Given the description of an element on the screen output the (x, y) to click on. 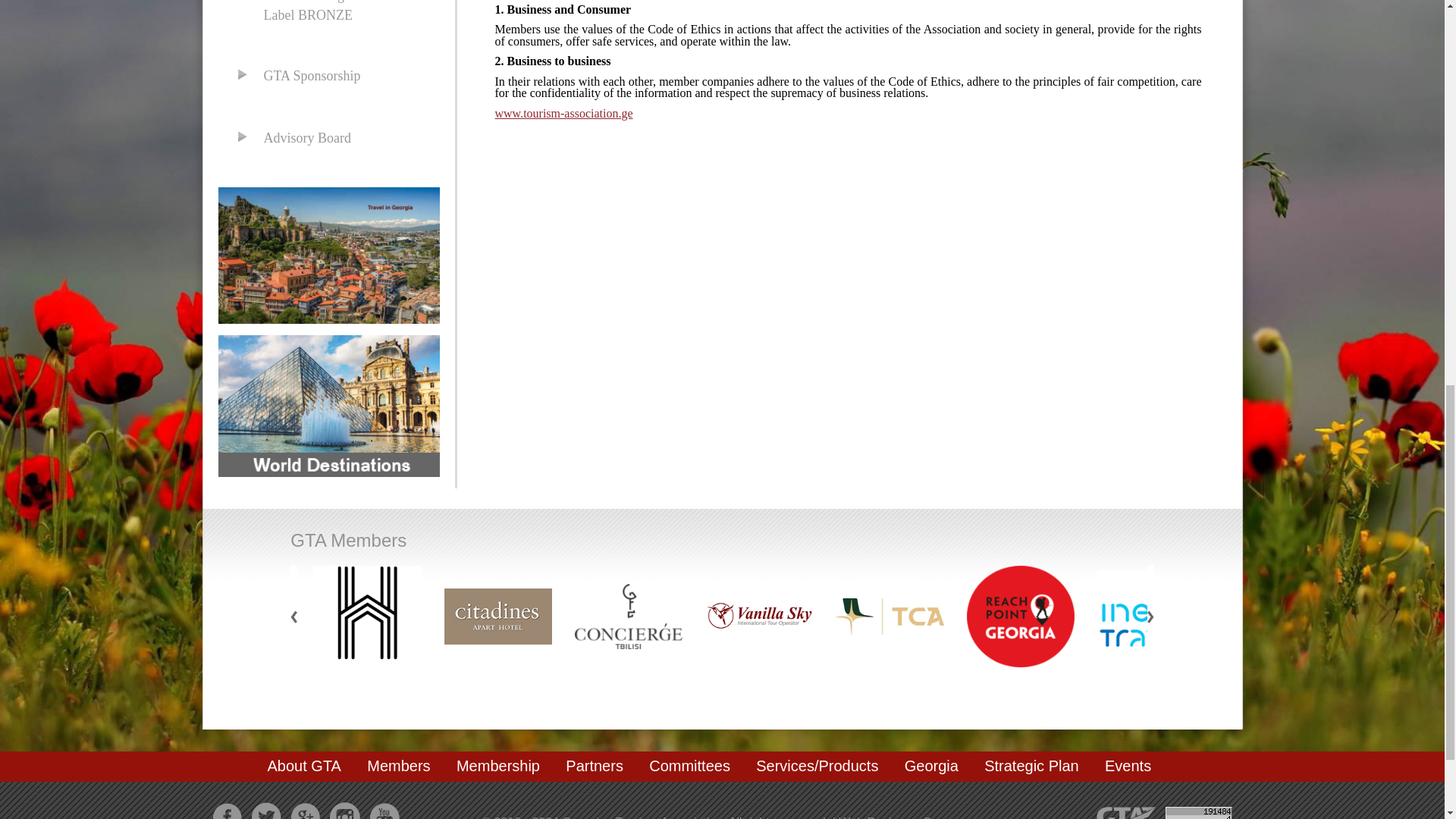
Twitter (266, 810)
Facebook (226, 811)
Instagram (344, 810)
